Given the description of an element on the screen output the (x, y) to click on. 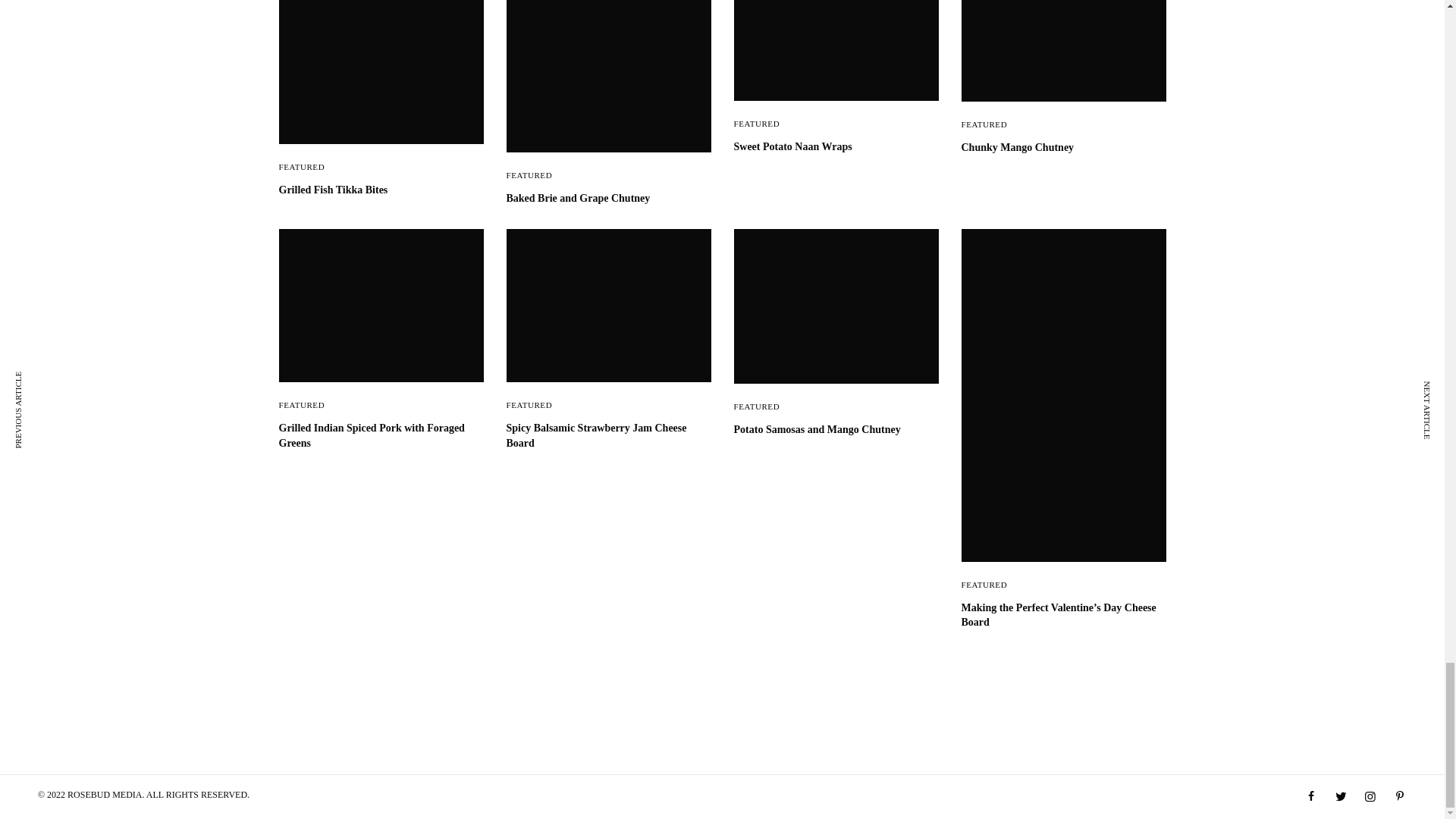
Potato Samosas and Mango Chutney (836, 429)
Grilled Fish Tikka Bites (381, 190)
Baked Brie and Grape Chutney (608, 198)
Sweet Potato Naan Wraps (836, 146)
Chunky Mango Chutney (1063, 147)
Grilled Indian Spiced Pork with Foraged Greens (381, 435)
Spicy Balsamic Strawberry Jam Cheese Board (608, 435)
